Given the description of an element on the screen output the (x, y) to click on. 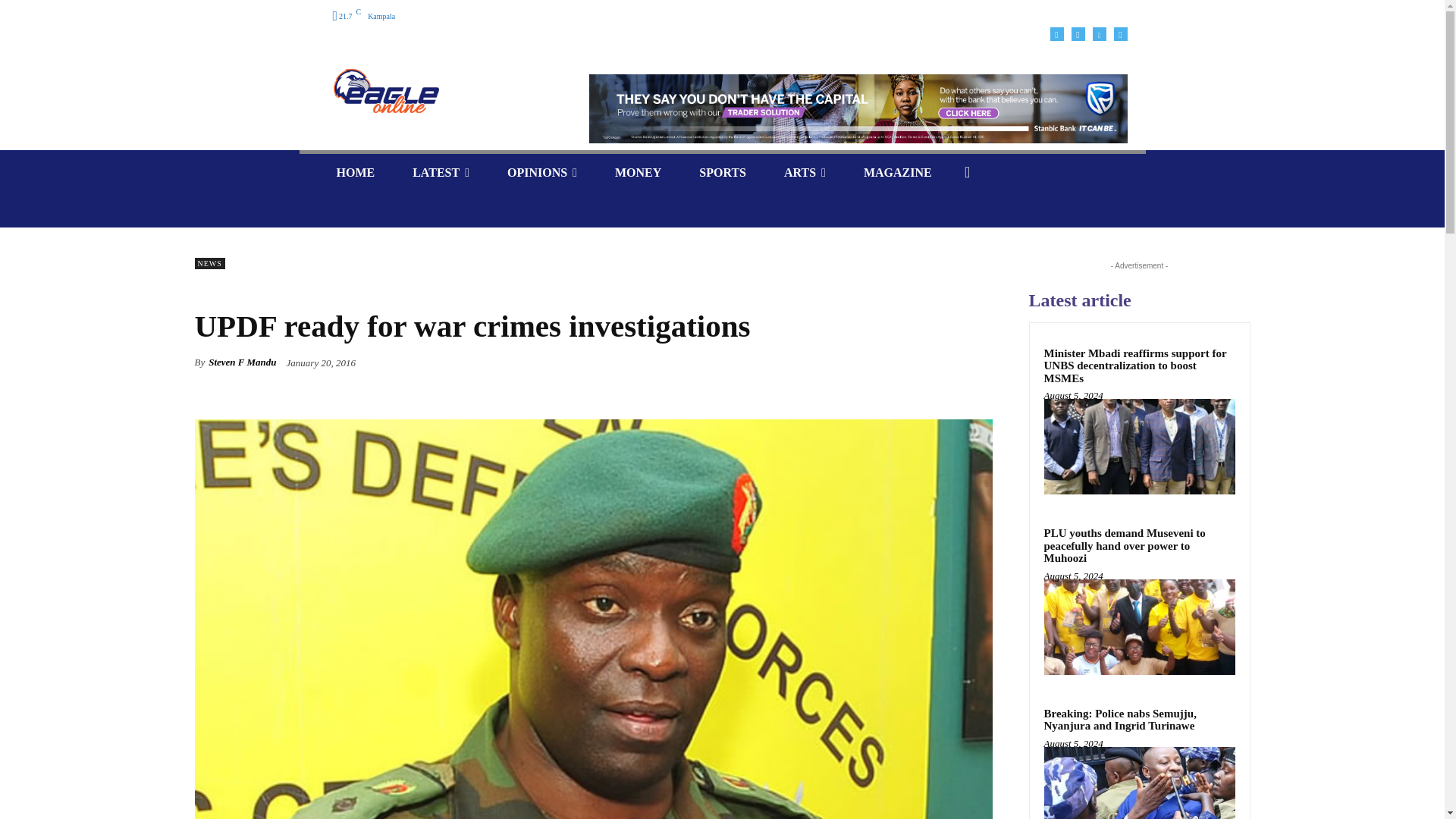
Eagle Online (385, 90)
Eagle Online (440, 90)
OPINIONS (541, 171)
Instagram (1077, 33)
LATEST (440, 171)
HOME (355, 171)
Twitter (1119, 33)
MONEY (637, 171)
Facebook (1055, 33)
ARTS (804, 171)
Linkedin (1098, 33)
SPORTS (722, 171)
